Given the description of an element on the screen output the (x, y) to click on. 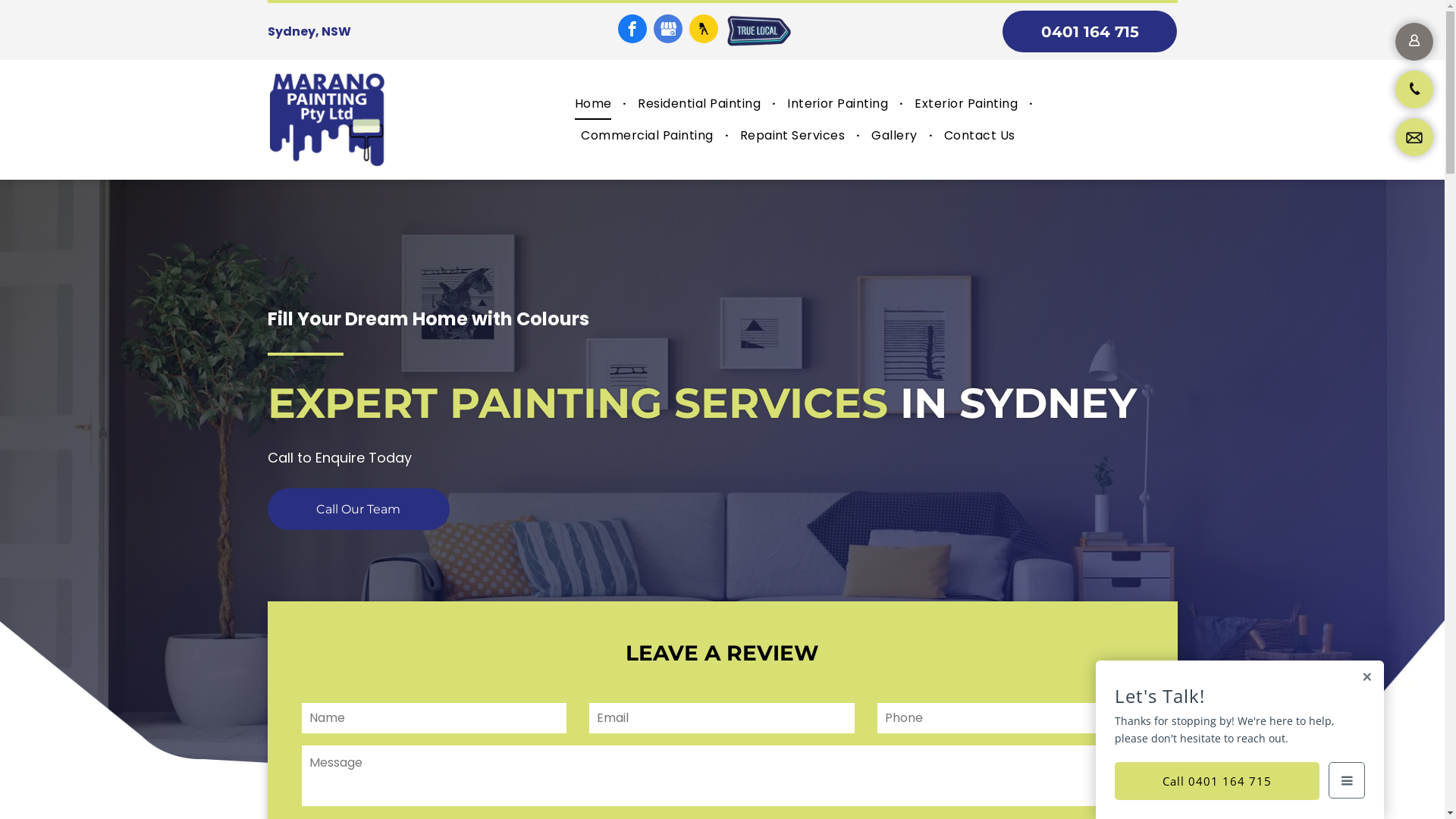
Contact Us Element type: text (979, 135)
Gallery Element type: text (893, 135)
Commercial Painting Element type: text (646, 135)
True Local Element type: hover (758, 32)
Marano Painting Pty Ltd Element type: hover (325, 119)
0401 164 715 Element type: text (1089, 31)
Repaint Services Element type: text (792, 135)
Sydney, NSW Element type: text (308, 31)
Exterior Painting Element type: text (966, 103)
Home Element type: text (593, 103)
Interior Painting Element type: text (837, 103)
Call Our Team Element type: text (357, 509)
Residential Painting Element type: text (698, 103)
Call 0401 164 715 Element type: text (1216, 781)
